Given the description of an element on the screen output the (x, y) to click on. 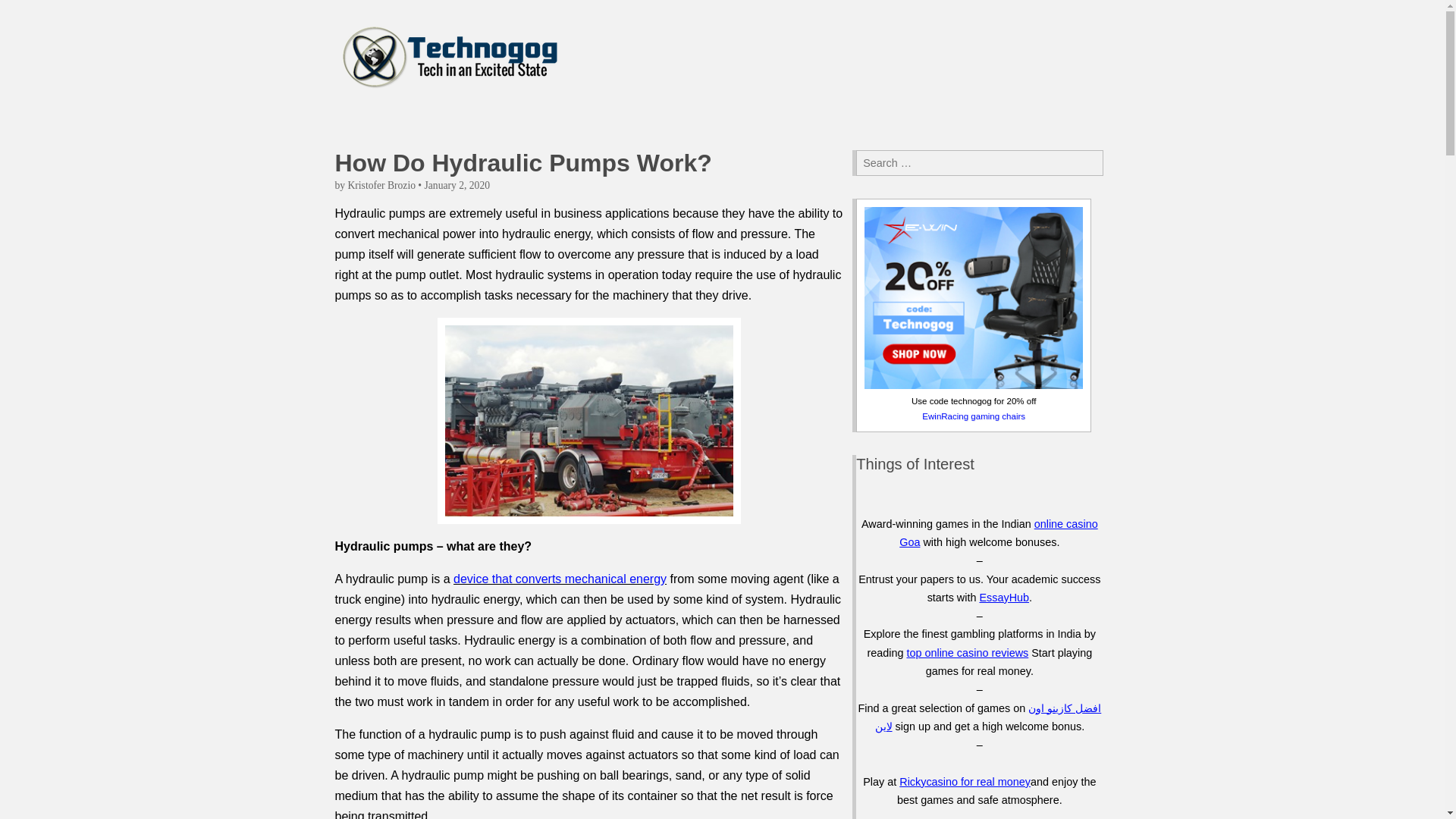
Posts by Kristofer Brozio (380, 184)
Technogog (450, 59)
EwinRacing gaming chairs (973, 416)
Kristofer Brozio (380, 184)
EssayHub (1003, 597)
online casino Goa (998, 532)
top online casino reviews (966, 653)
Technogog (455, 142)
Technogog (455, 142)
Rickycasino for real money (964, 781)
hypumparticle (589, 420)
device that converts mechanical energy (559, 578)
